Given the description of an element on the screen output the (x, y) to click on. 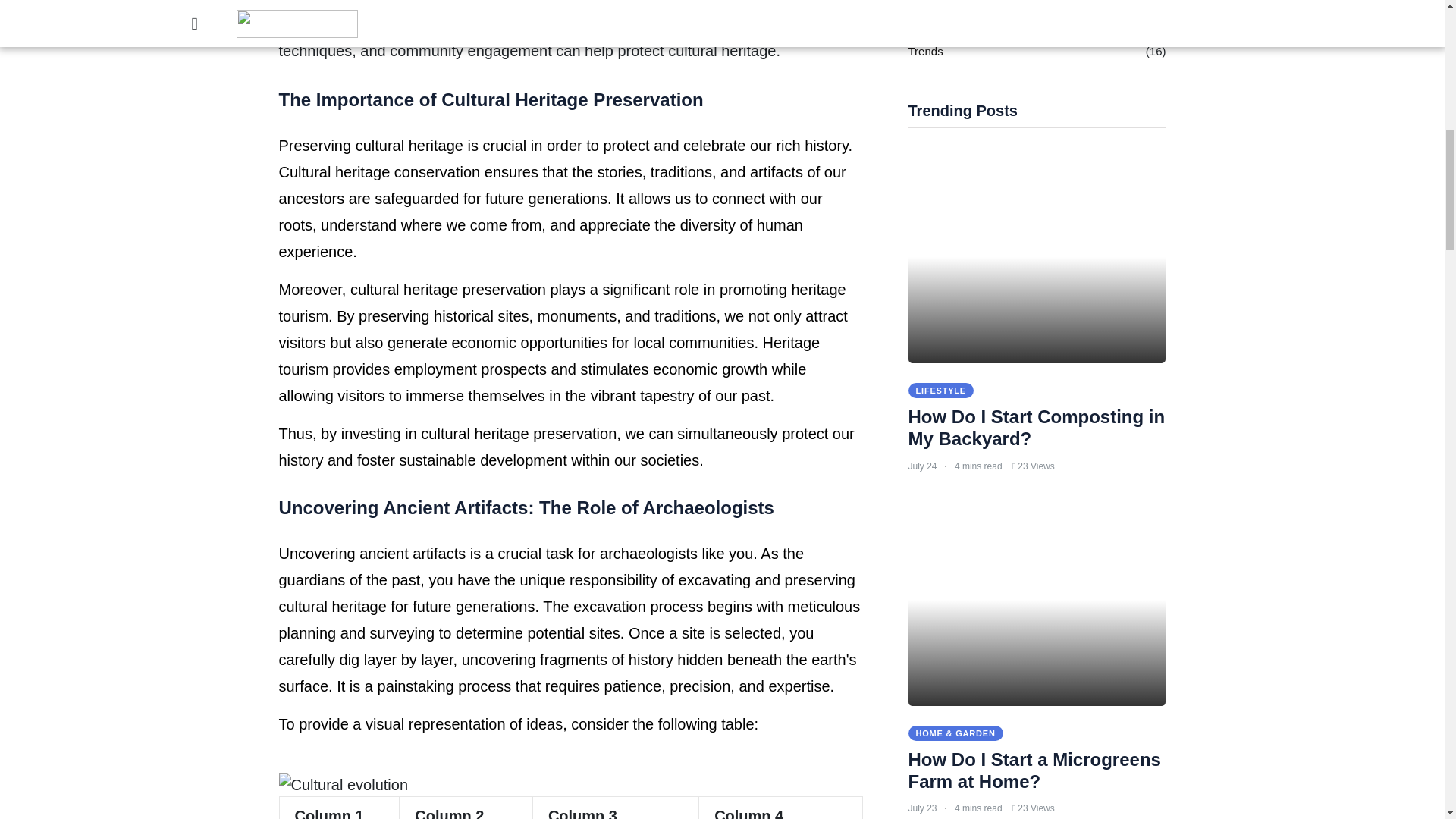
How Do I Start a Microgreens Farm at Home? (1034, 770)
How Do I Start Composting in My Backyard? (1037, 427)
Trends (925, 51)
Fashion (928, 4)
LIFESTYLE (941, 389)
